Given the description of an element on the screen output the (x, y) to click on. 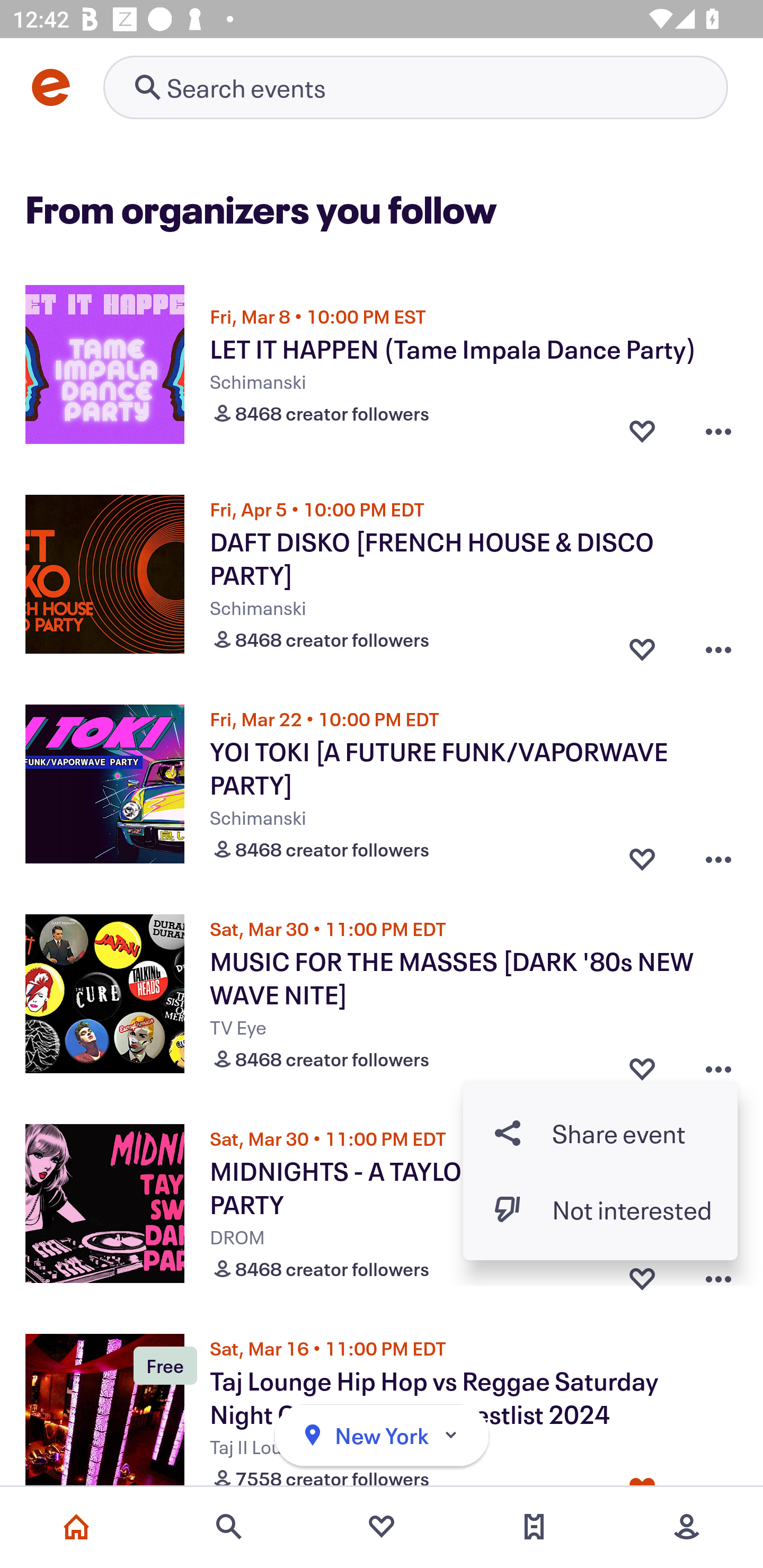
Share button Share event (600, 1132)
Dislike event button Not interested (600, 1209)
